Given the description of an element on the screen output the (x, y) to click on. 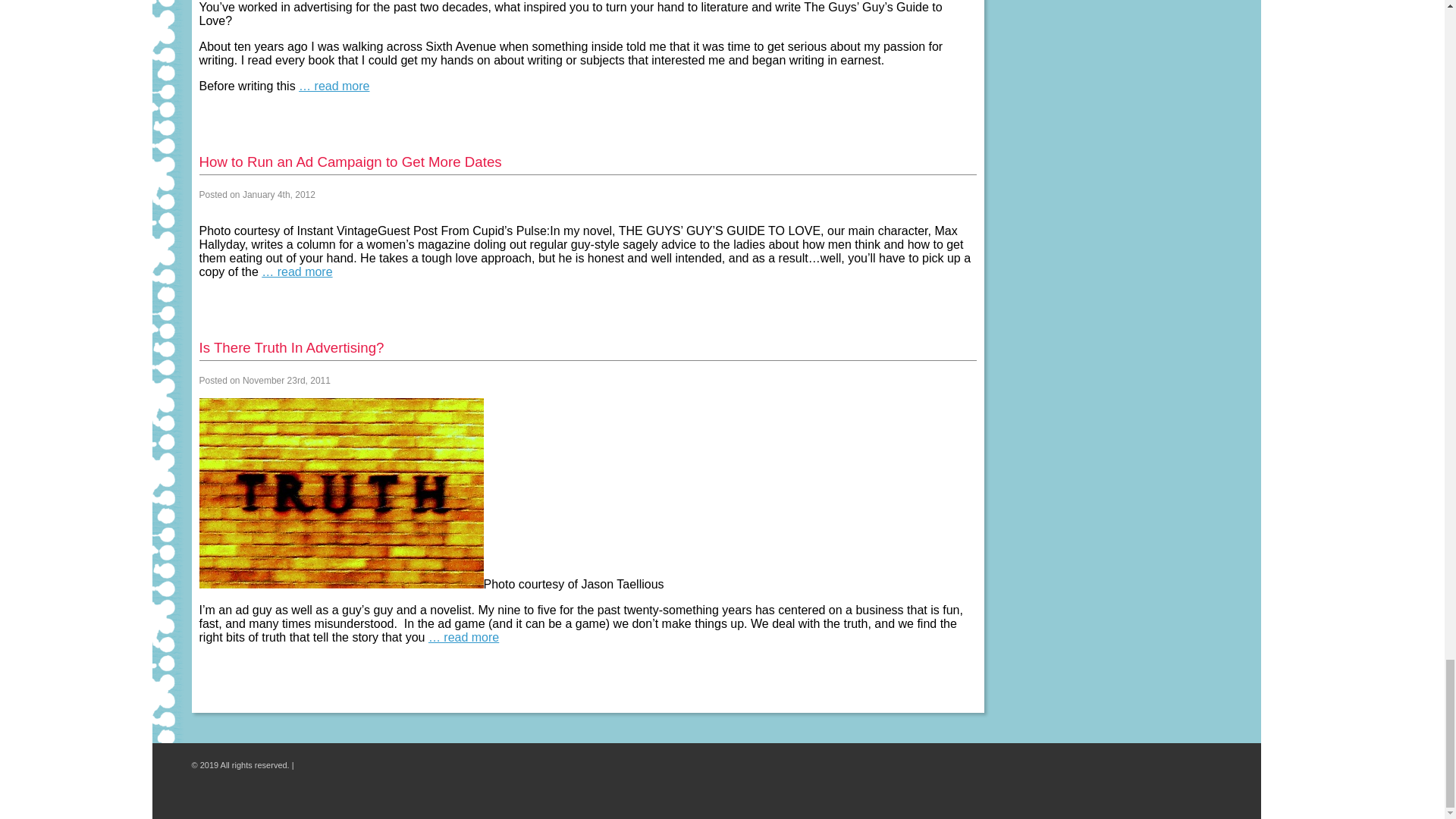
Is There Truth In Advertising? (291, 347)
How to Run an Ad Campaign to Get More Dates (349, 161)
Is There Truth In Advertising? (291, 347)
How to Run an Ad Campaign to Get More Dates (349, 161)
